Given the description of an element on the screen output the (x, y) to click on. 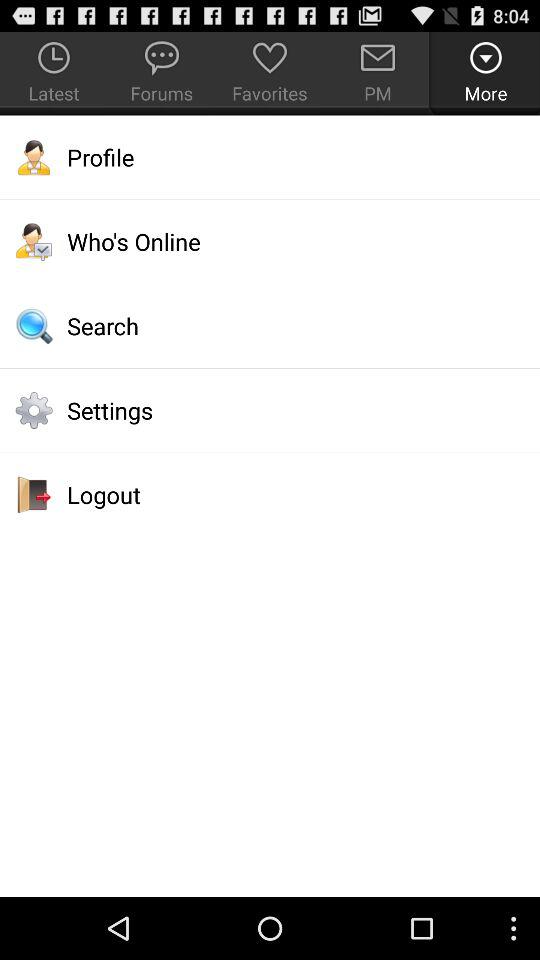
flip until the   who's online icon (270, 241)
